Given the description of an element on the screen output the (x, y) to click on. 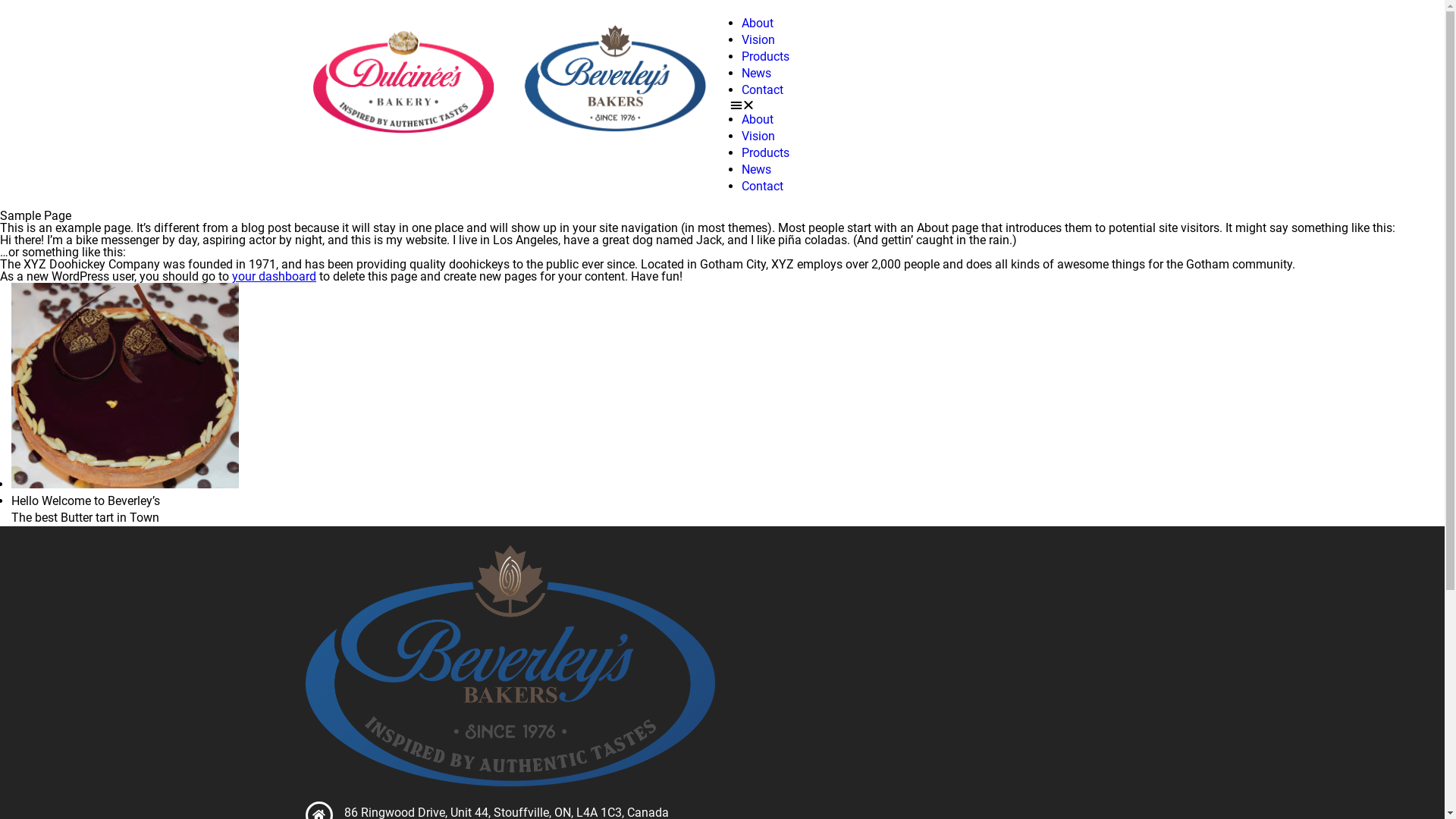
Contact Element type: text (762, 89)
your dashboard Element type: text (274, 276)
Contact Element type: text (762, 185)
Vision Element type: text (758, 135)
Products Element type: text (765, 56)
Beverleys Bakers Element type: hover (509, 665)
About Element type: text (757, 22)
News Element type: text (756, 169)
Products Element type: text (765, 152)
Vision Element type: text (758, 39)
News Element type: text (756, 72)
About Element type: text (757, 119)
